Given the description of an element on the screen output the (x, y) to click on. 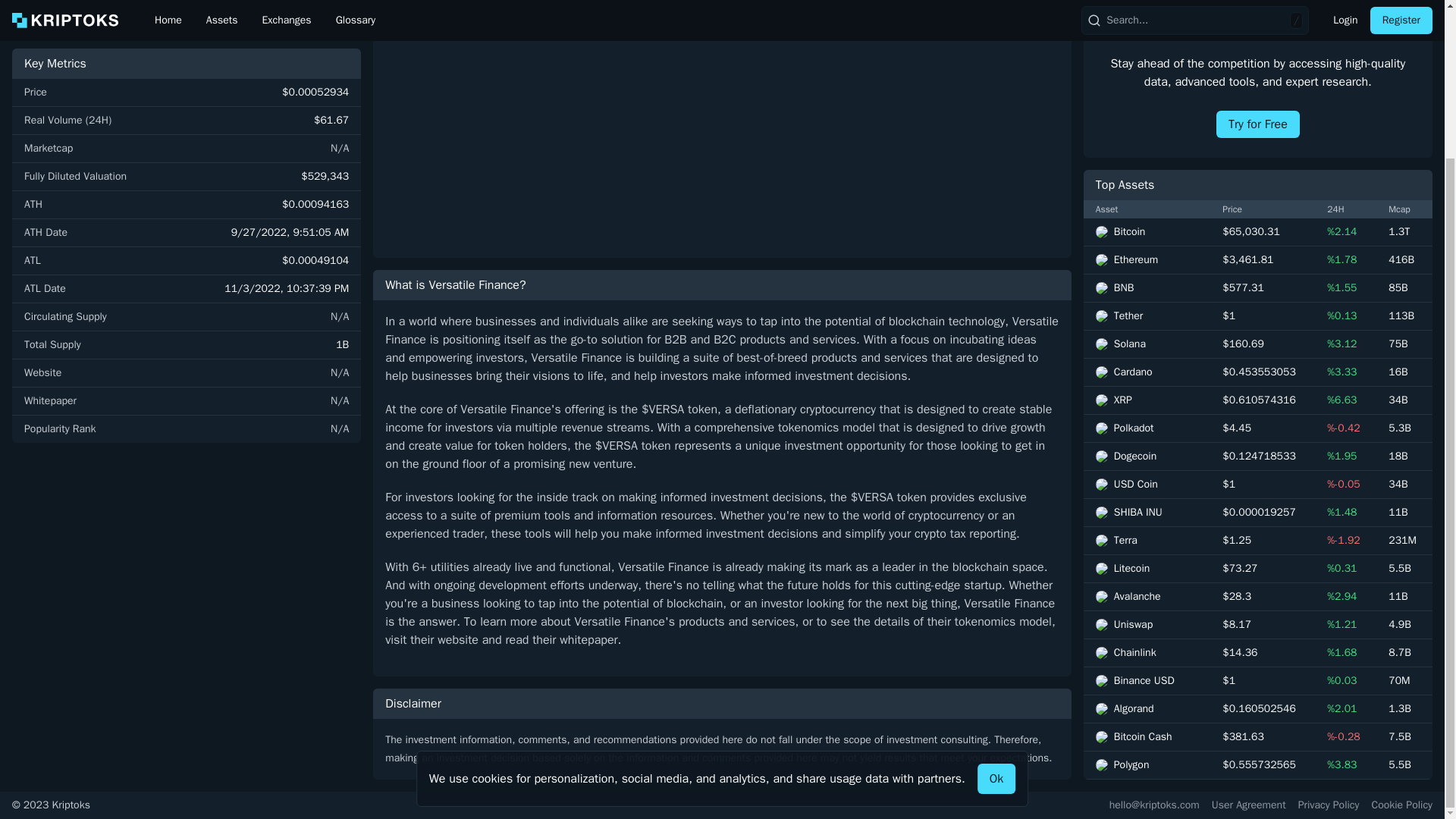
Litecoin (1147, 462)
BNB (1147, 181)
User Agreement (1248, 805)
Polygon (1147, 658)
Uniswap (1147, 518)
USD Coin (1147, 378)
Privacy Policy (1328, 805)
Algorand (1147, 602)
Bitcoin (1147, 125)
Dogecoin (1147, 350)
Cookie Policy (1401, 805)
Binance USD (1147, 574)
Avalanche (1147, 490)
Terra (1147, 434)
Tether (1147, 209)
